Given the description of an element on the screen output the (x, y) to click on. 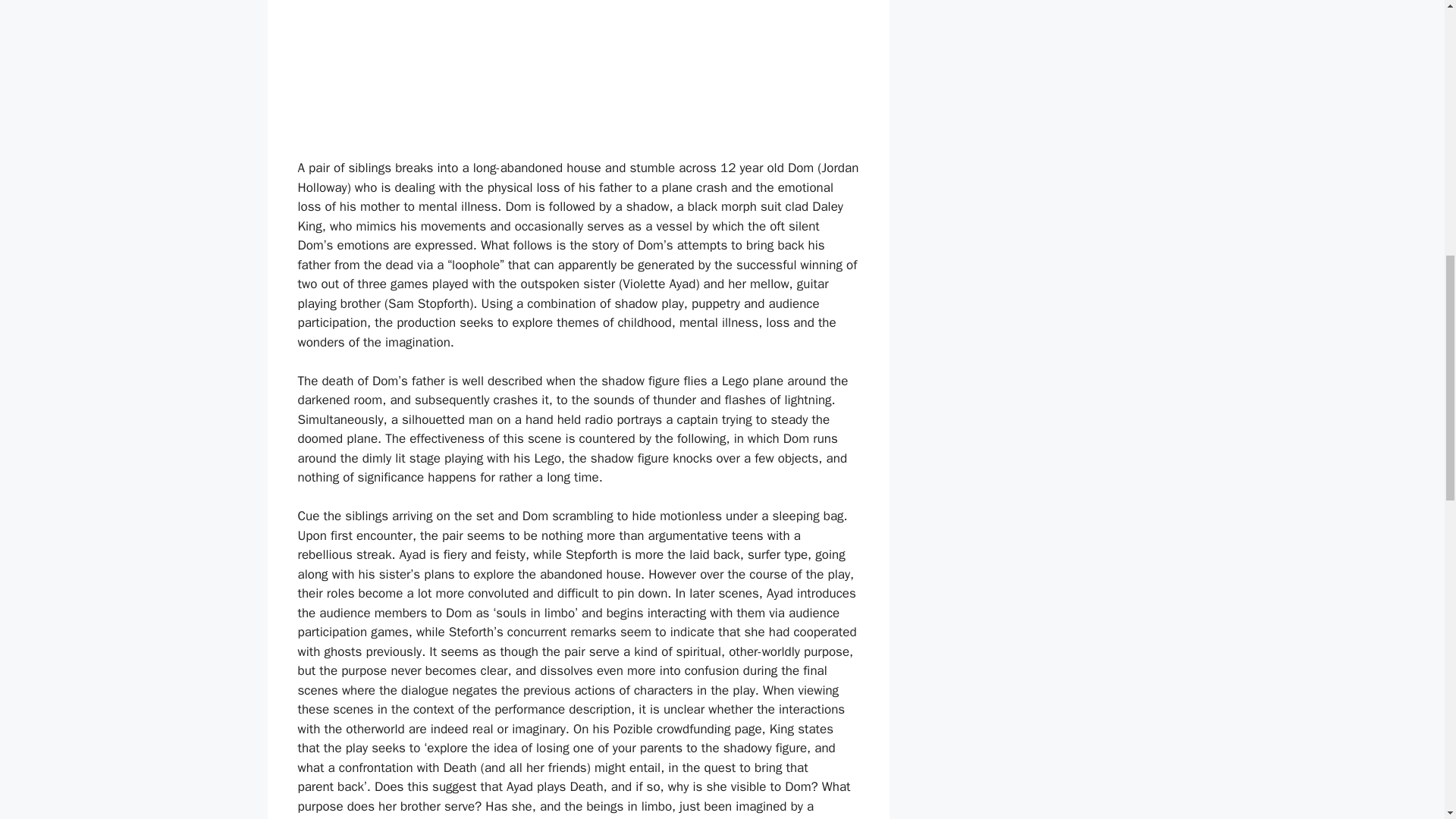
Advertisement (578, 79)
